Given the description of an element on the screen output the (x, y) to click on. 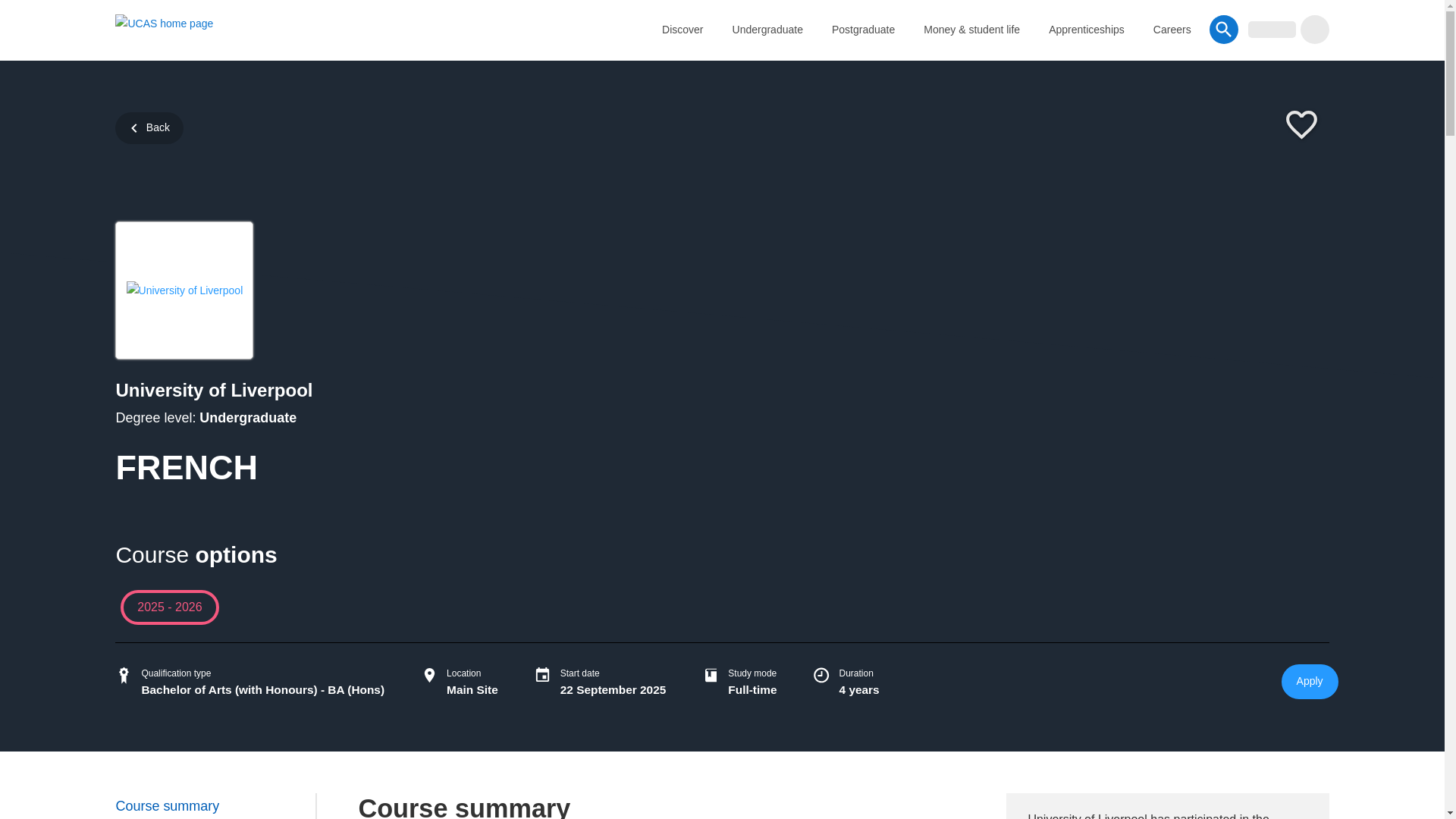
Back to previous page (149, 128)
Undergraduate (767, 29)
Discover (682, 29)
Add option to favourites (1301, 125)
